Given the description of an element on the screen output the (x, y) to click on. 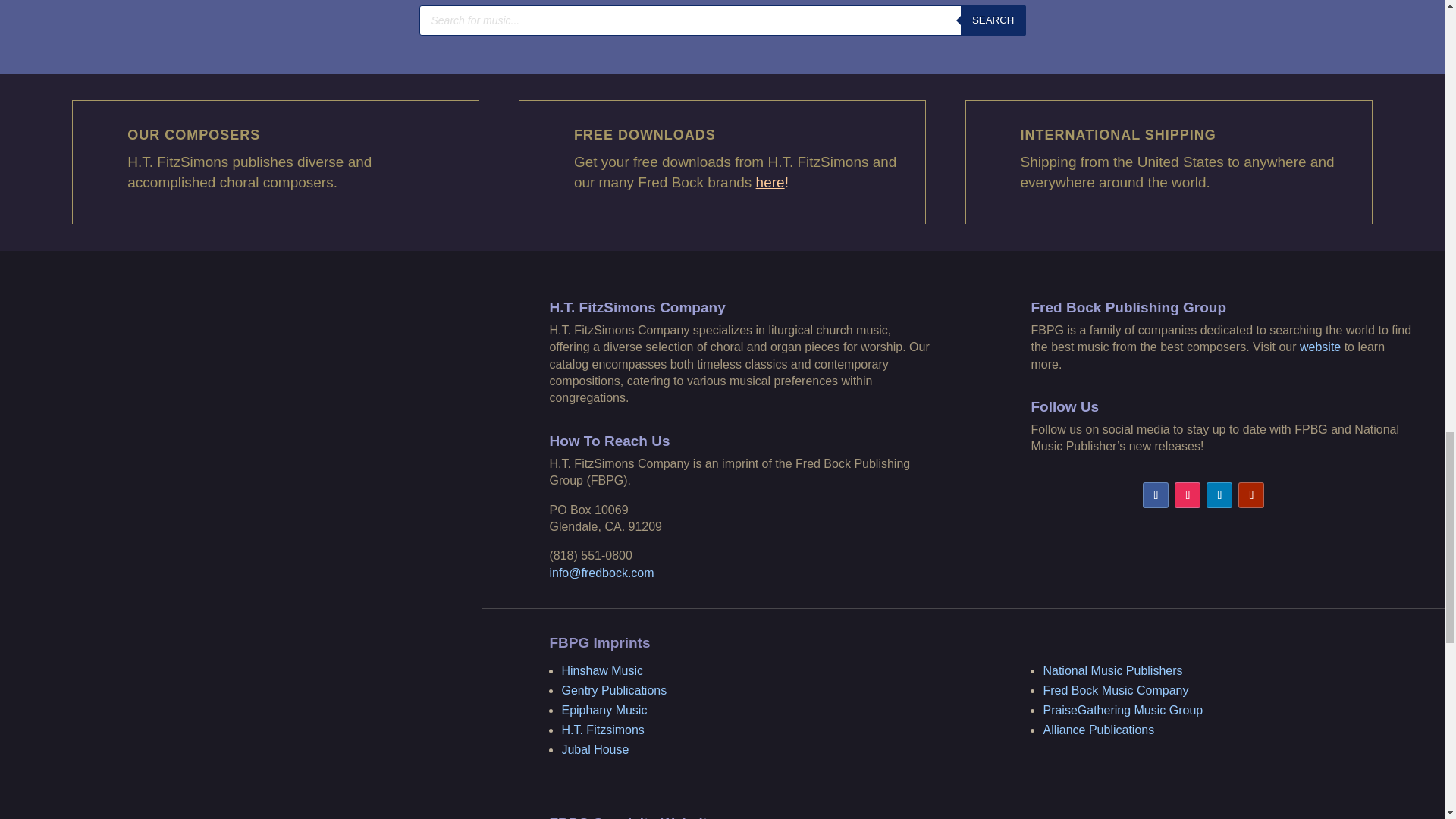
Follow on Instagram (1186, 494)
Follow on Facebook (1155, 494)
SEARCH (993, 20)
Follow on LinkedIn (1219, 494)
Follow on Youtube (1251, 494)
